Given the description of an element on the screen output the (x, y) to click on. 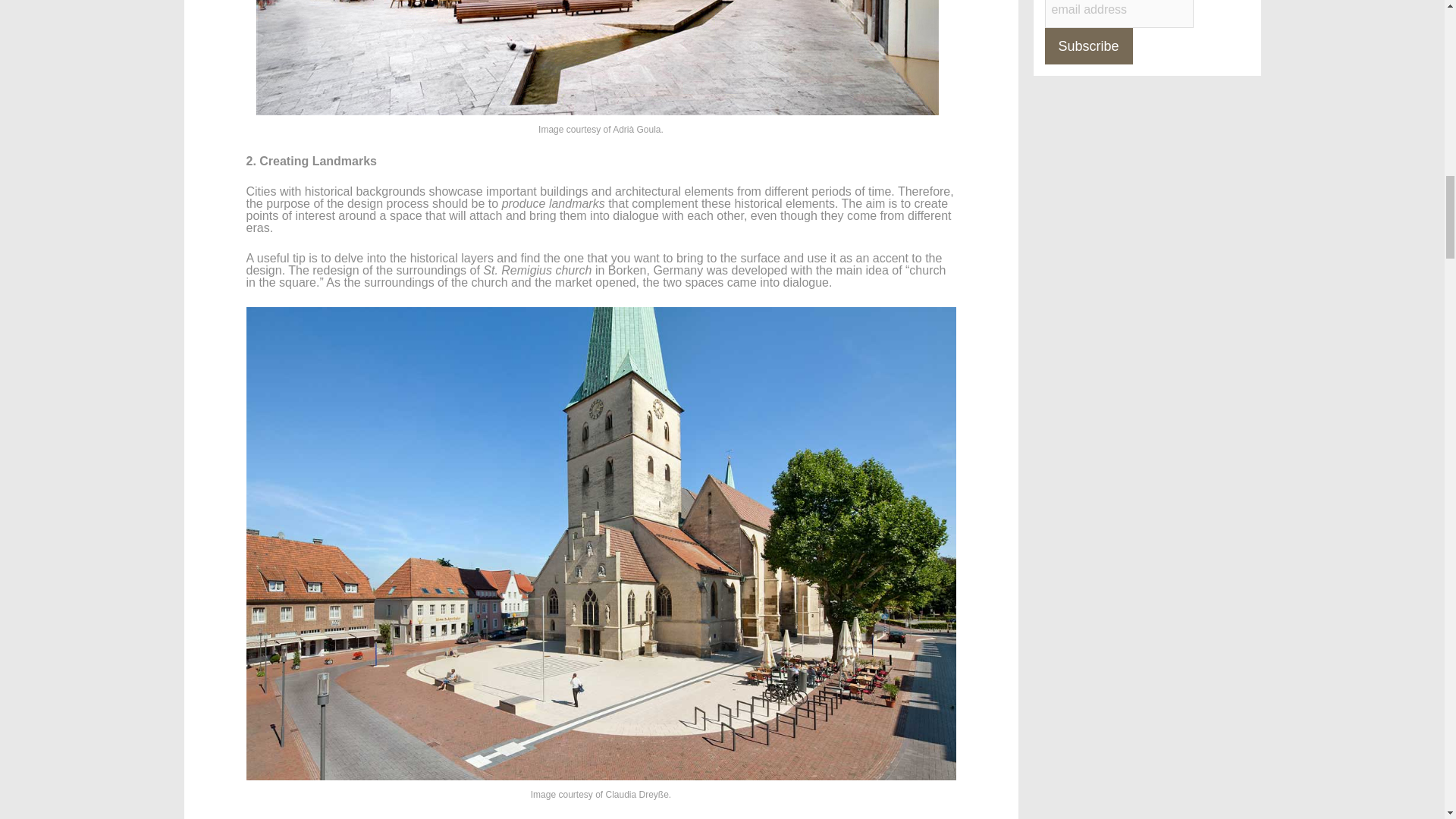
Subscribe (1088, 45)
